Given the description of an element on the screen output the (x, y) to click on. 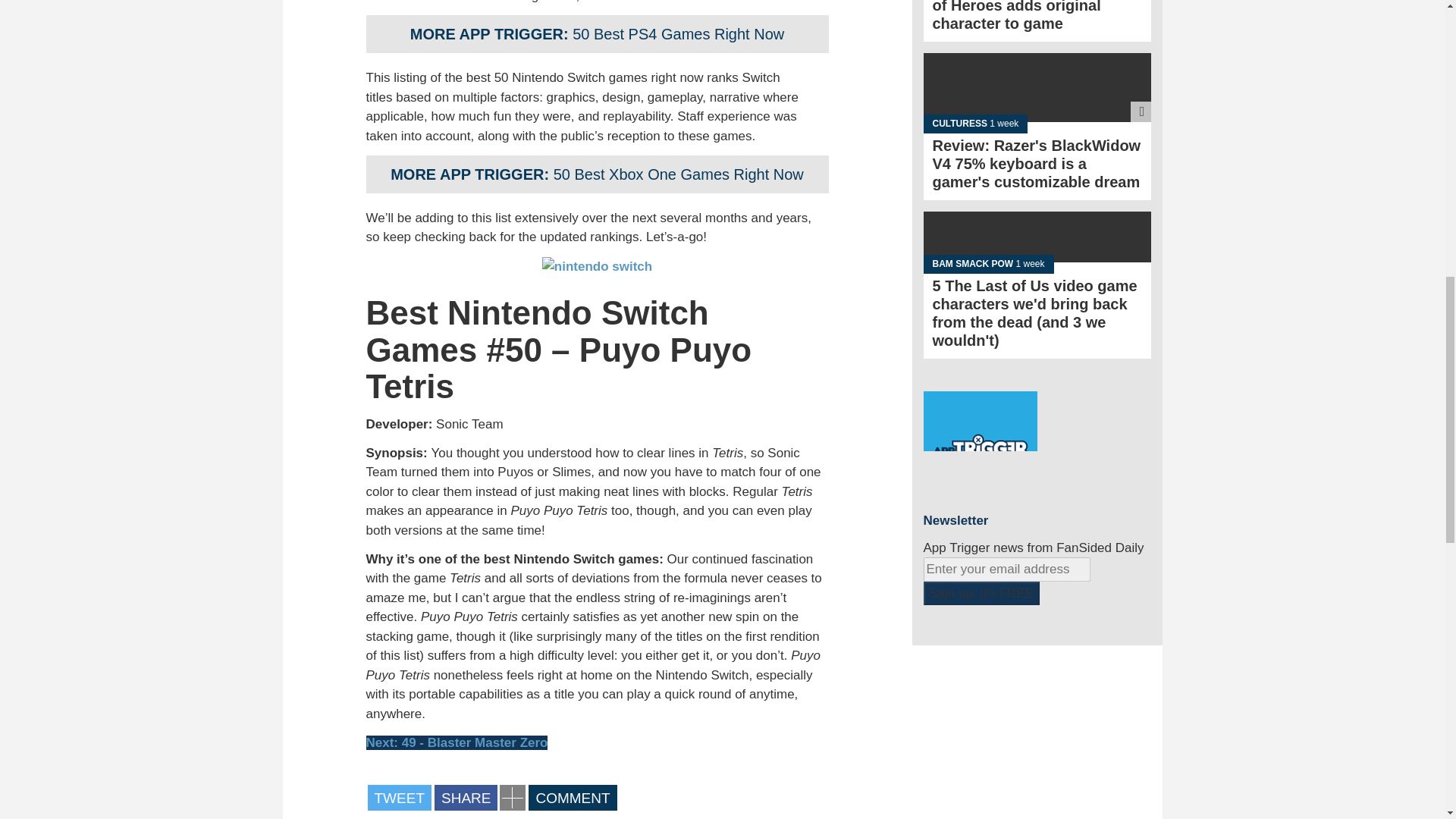
MORE APP TRIGGER: 50 Best PS4 Games Right Now (596, 34)
Sign up, it's FREE (981, 593)
Next: 49 - Blaster Master Zero (456, 742)
MORE APP TRIGGER: 50 Best Xbox One Games Right Now (596, 174)
